Given the description of an element on the screen output the (x, y) to click on. 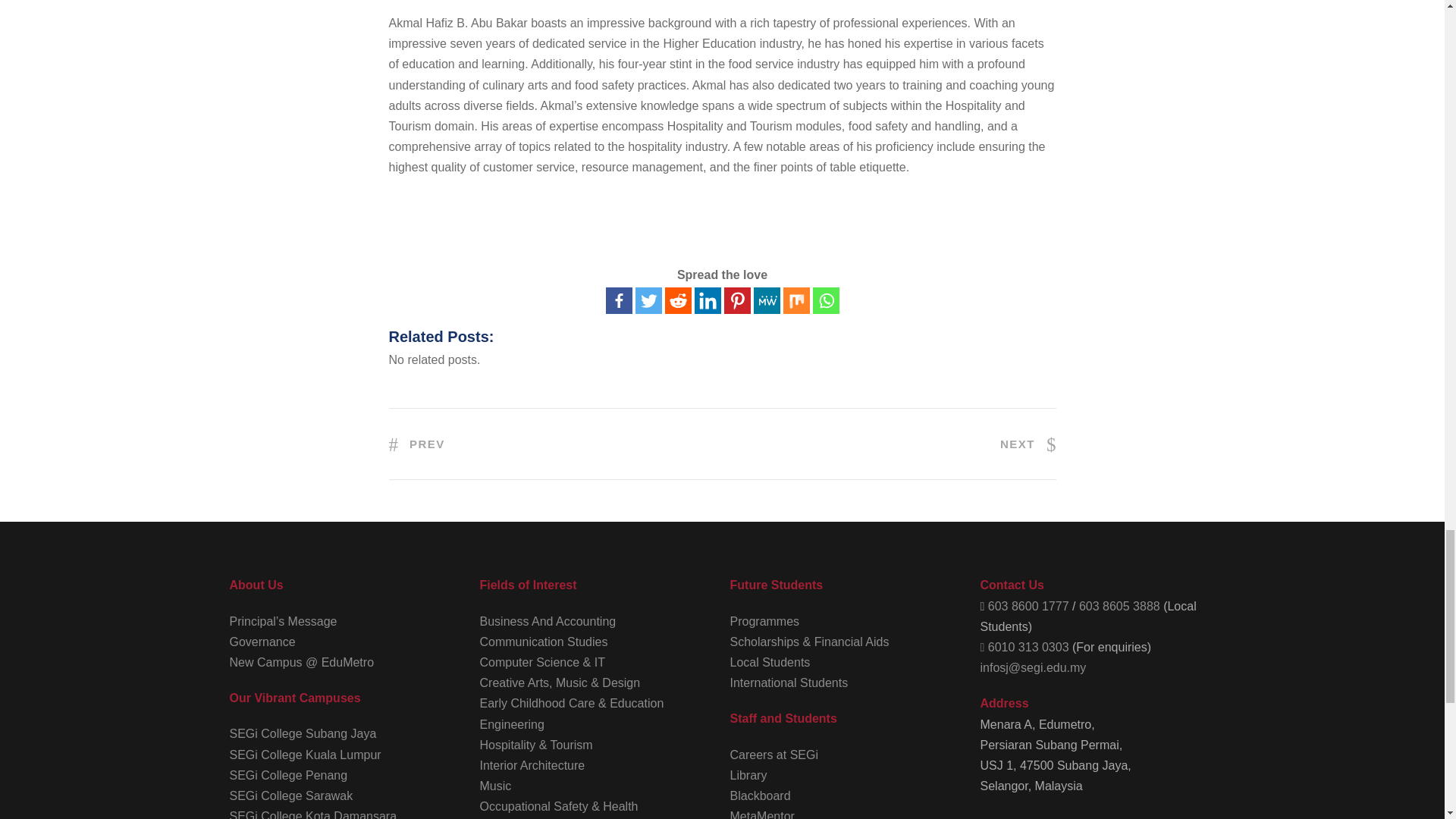
Reddit (676, 300)
MeWe (767, 300)
Twitter (648, 300)
Whatsapp (826, 300)
Facebook (618, 300)
Mix (796, 300)
LinkedIn (707, 300)
Pinterest (736, 300)
